Given the description of an element on the screen output the (x, y) to click on. 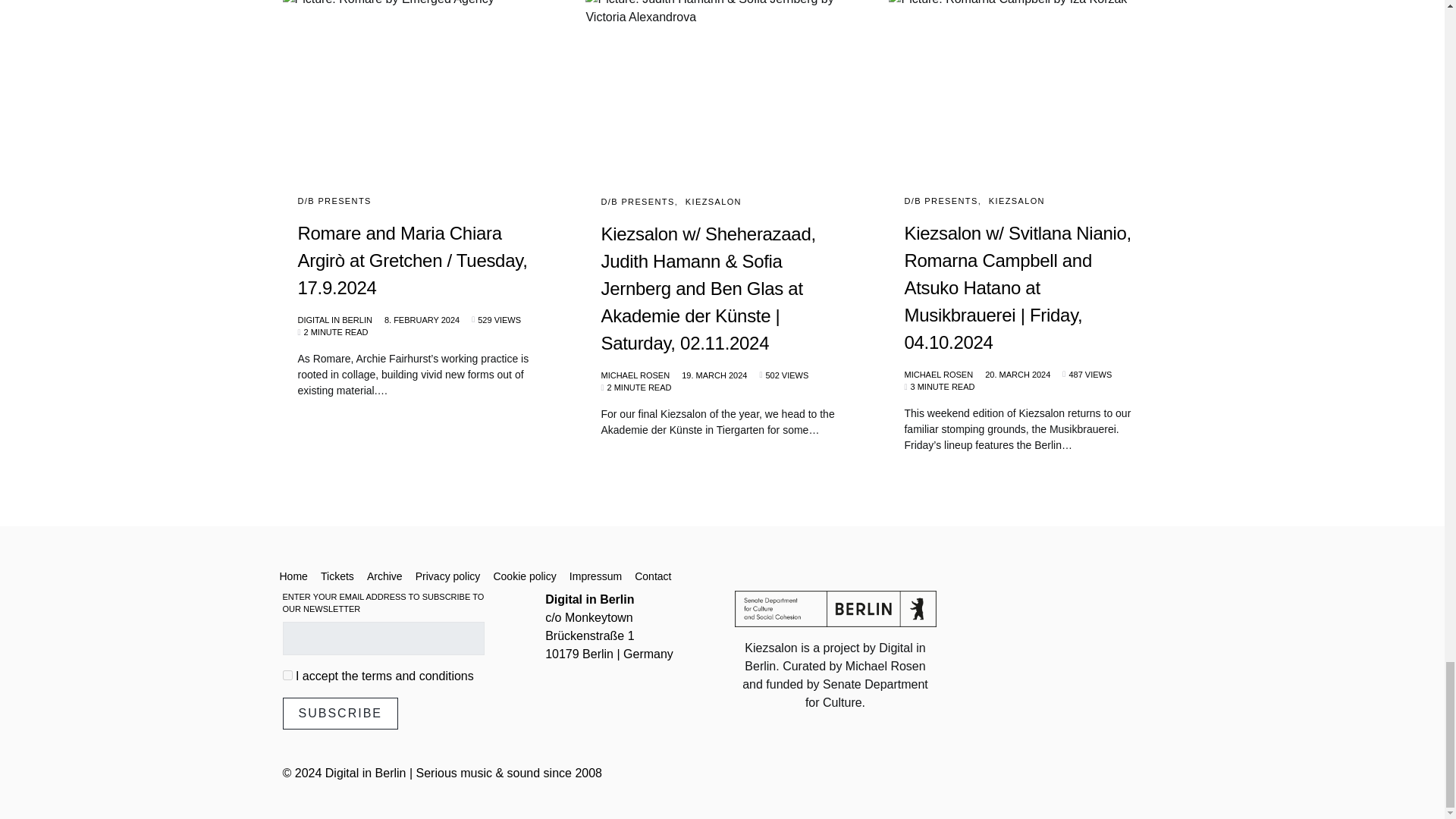
Subscribe (339, 713)
View all posts by Digital in Berlin (334, 319)
on (287, 675)
